Given the description of an element on the screen output the (x, y) to click on. 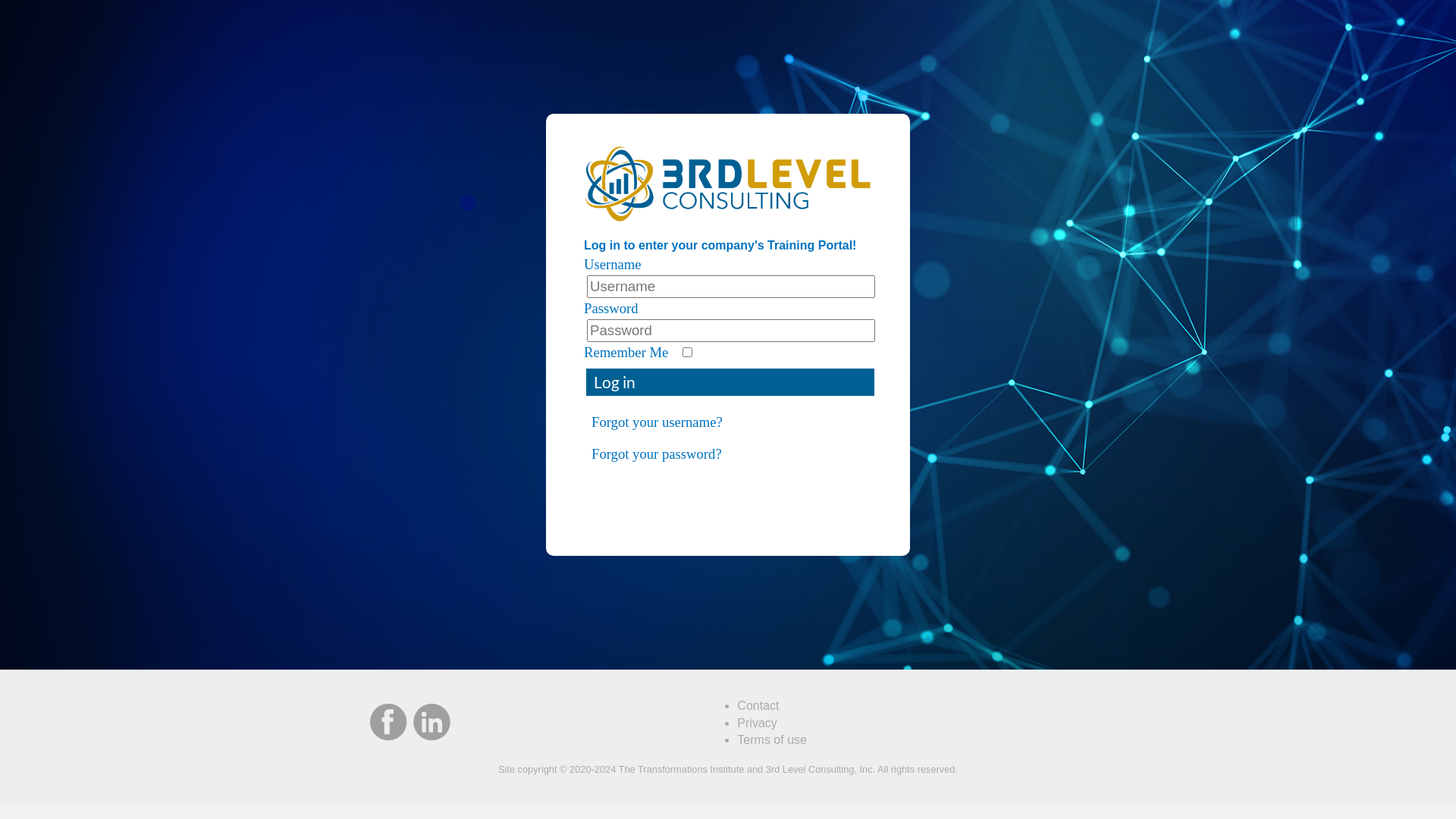
Privacy Element type: text (756, 722)
Log in Element type: text (730, 381)
Forgot your password? Element type: text (727, 454)
Contact Element type: text (757, 705)
Forgot your username? Element type: text (727, 422)
3rd Level Consulting Element type: text (809, 769)
The Transformations Institute Element type: text (681, 769)
Terms of use Element type: text (771, 739)
